Given the description of an element on the screen output the (x, y) to click on. 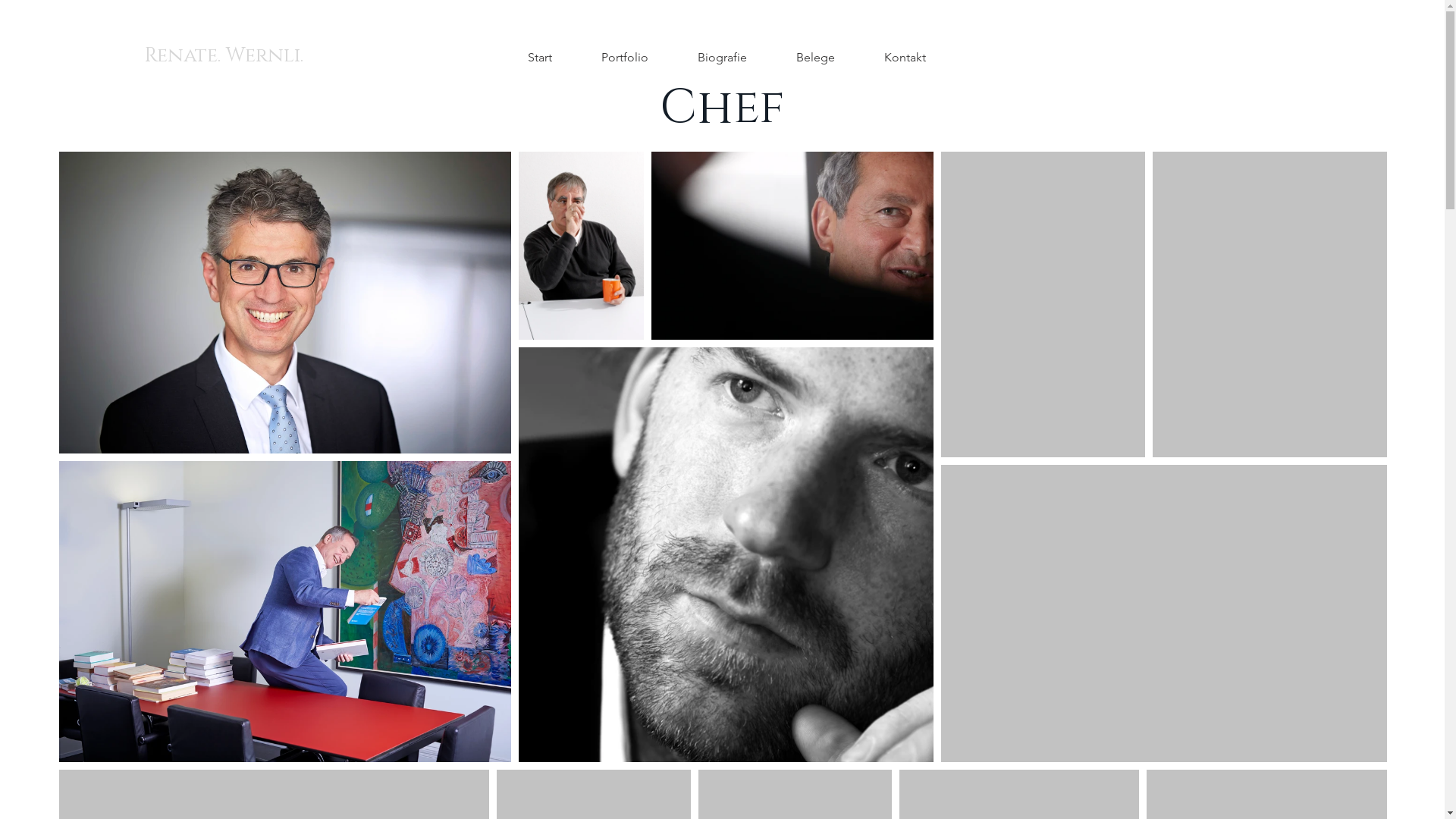
Renate. Wernli. Element type: text (223, 55)
Portfolio Element type: text (624, 57)
Biografie Element type: text (722, 57)
Belege Element type: text (815, 57)
Kontakt Element type: text (904, 57)
Start Element type: text (540, 57)
